Given the description of an element on the screen output the (x, y) to click on. 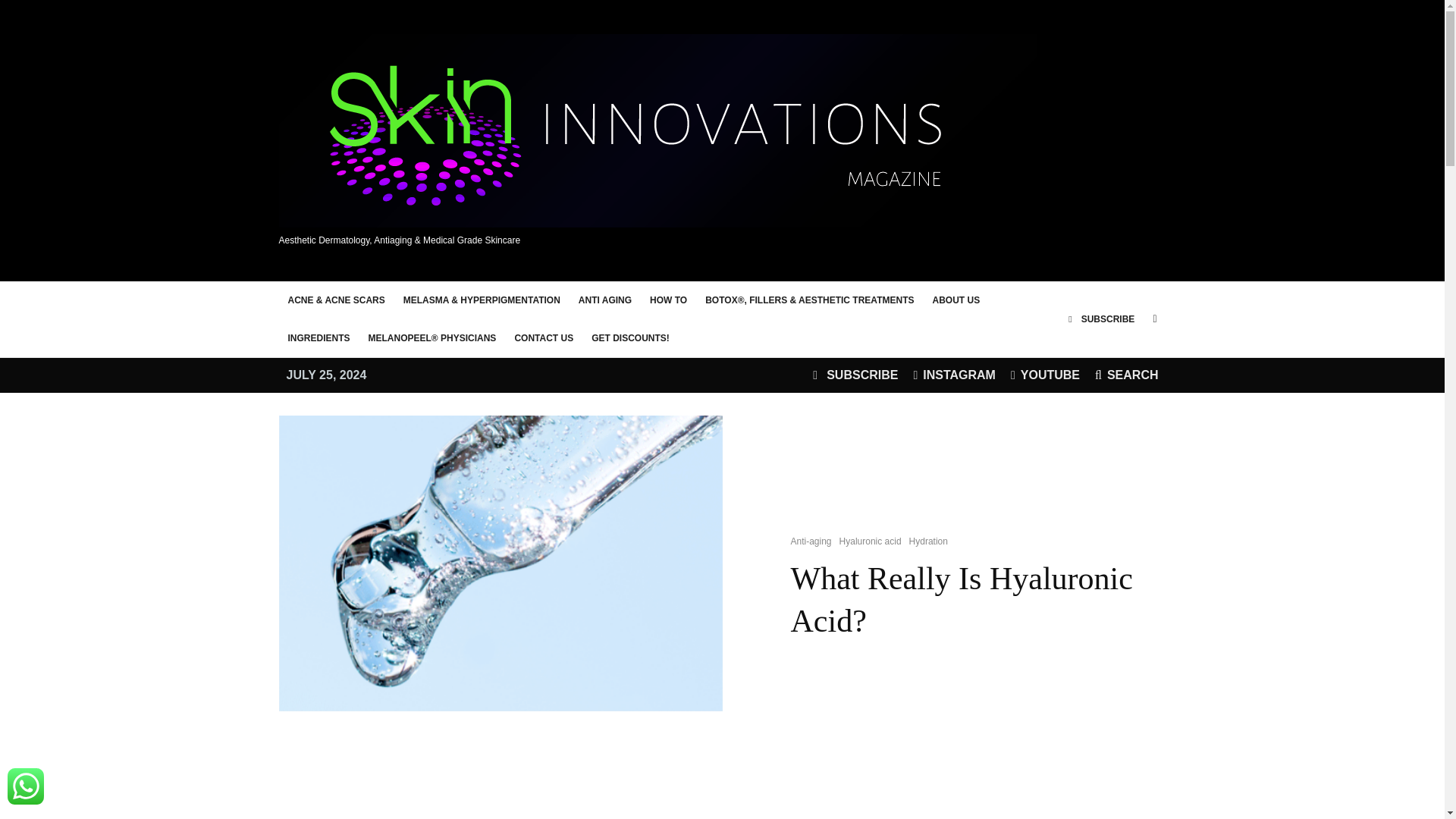
INSTAGRAM (954, 375)
ABOUT US (955, 300)
Hyaluronic acid (870, 540)
SUBSCRIBE (1100, 319)
ANTI AGING (604, 300)
GET DISCOUNTS! (630, 338)
Anti-aging (810, 540)
Advertisement (721, 790)
HOW TO (667, 300)
Hydration (927, 540)
SEARCH (1126, 375)
SUBSCRIBE (855, 375)
CONTACT US (543, 338)
YOUTUBE (1045, 375)
INGREDIENTS (319, 338)
